Given the description of an element on the screen output the (x, y) to click on. 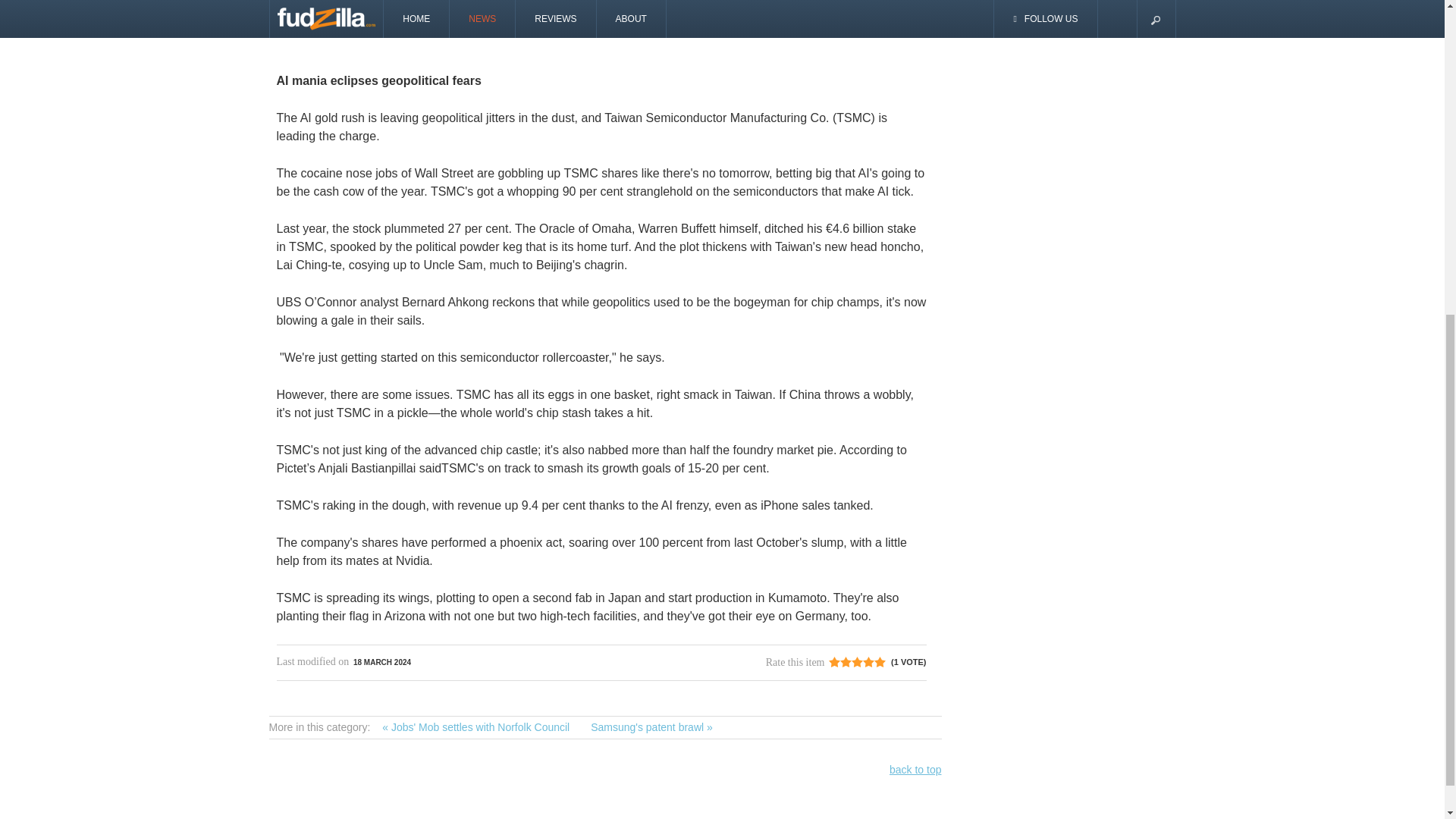
4 (851, 661)
back to top (915, 769)
1 (834, 661)
2 stars out of 5 (839, 661)
5 stars out of 5 (856, 661)
2 (839, 661)
3 stars out of 5 (845, 661)
1 star out of 5 (834, 661)
5 (856, 661)
3 (845, 661)
4 stars out of 5 (851, 661)
Click to preview image (601, 15)
